Given the description of an element on the screen output the (x, y) to click on. 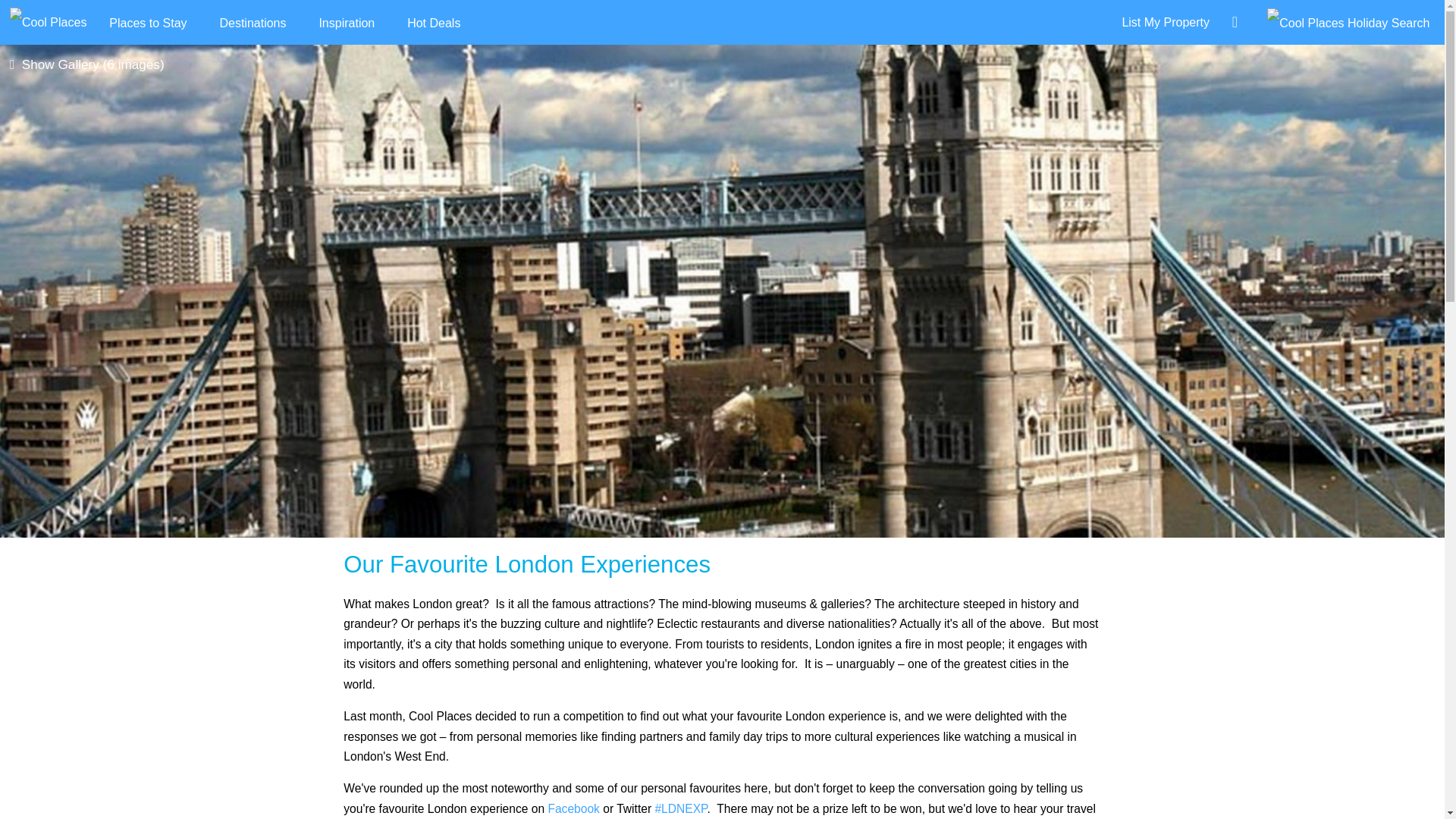
Places to Stay (147, 22)
Inspiration (346, 22)
List My Property (1160, 21)
Hot Deals (433, 22)
Destinations (252, 22)
